Given the description of an element on the screen output the (x, y) to click on. 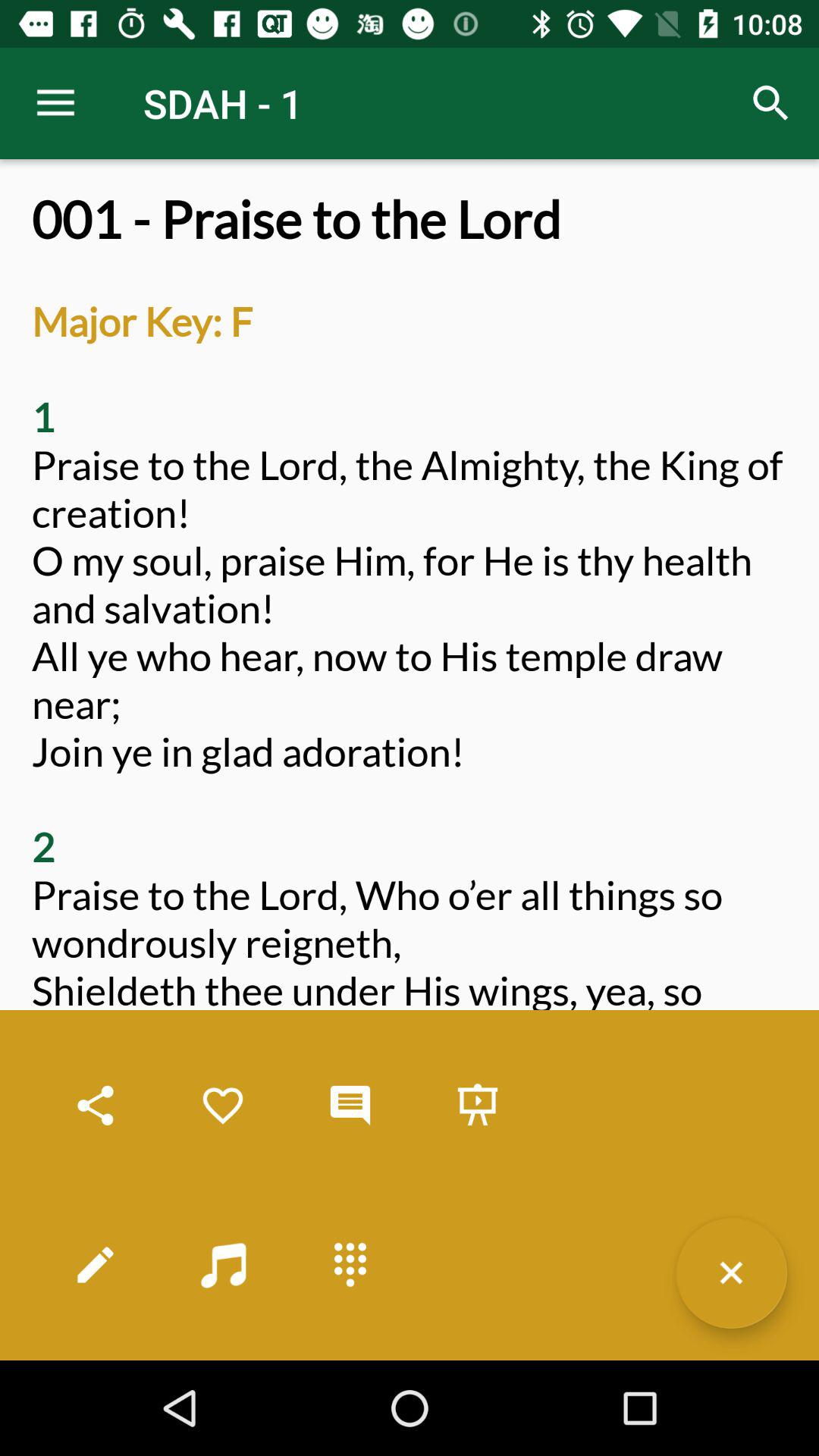
open music (222, 1264)
